Given the description of an element on the screen output the (x, y) to click on. 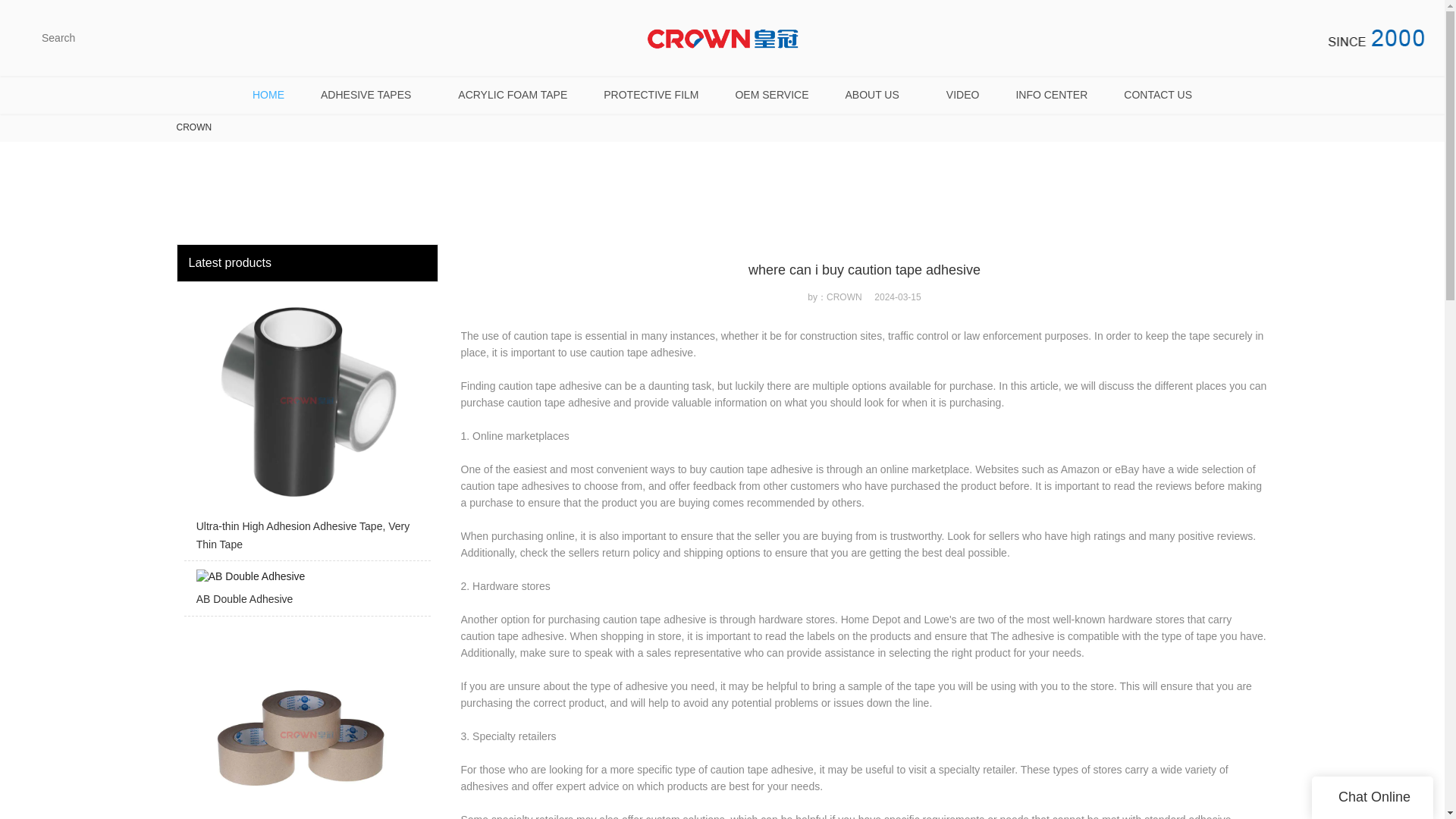
INFO CENTER (1051, 94)
CROWN (193, 127)
Ultra-thin High Adhesion Adhesive Tape, Very Thin Tape (306, 425)
ADHESIVE TAPES (370, 94)
OEM SERVICE (771, 94)
HOME (268, 94)
ACRYLIC FOAM TAPE (512, 94)
AB Double Adhesive (306, 591)
PROTECTIVE FILM (650, 94)
